Given the description of an element on the screen output the (x, y) to click on. 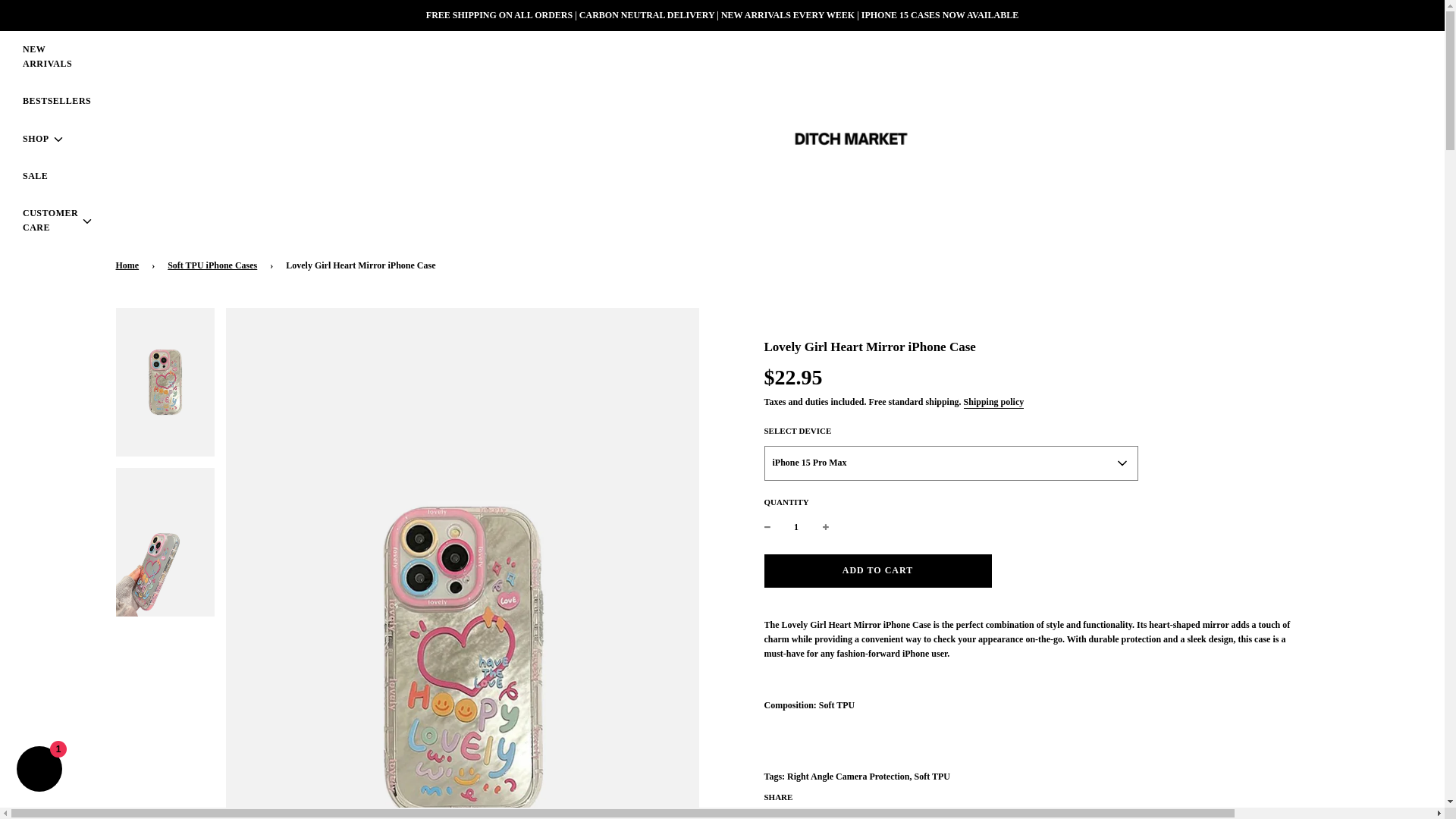
Shopify online store chat (38, 770)
Back to the frontpage (129, 265)
1 (796, 527)
